Given the description of an element on the screen output the (x, y) to click on. 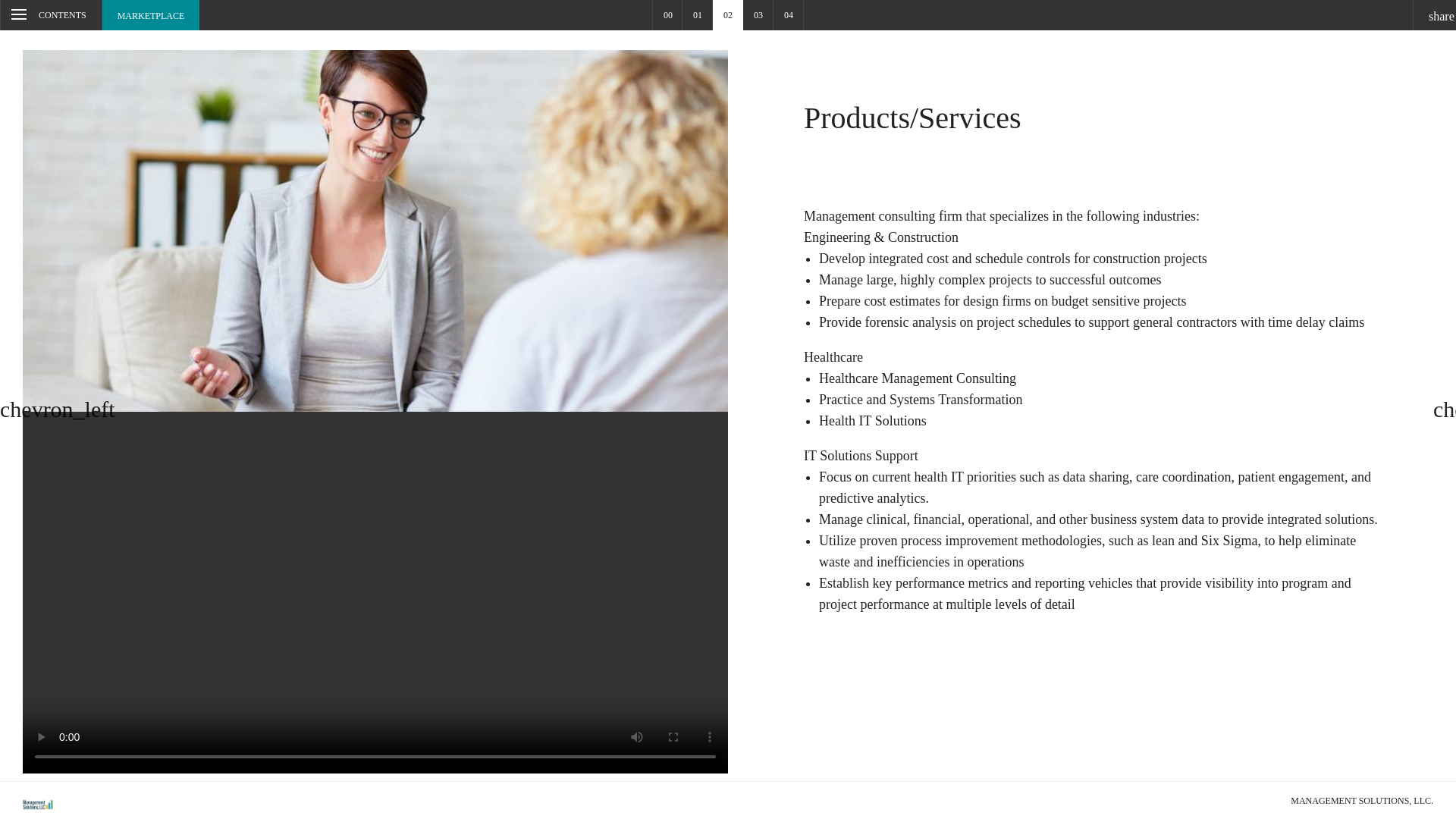
00 (667, 15)
04 (788, 15)
03 (757, 15)
01 (697, 15)
CONTENTS (50, 15)
MARKETPLACE (150, 15)
02 (727, 15)
